Given the description of an element on the screen output the (x, y) to click on. 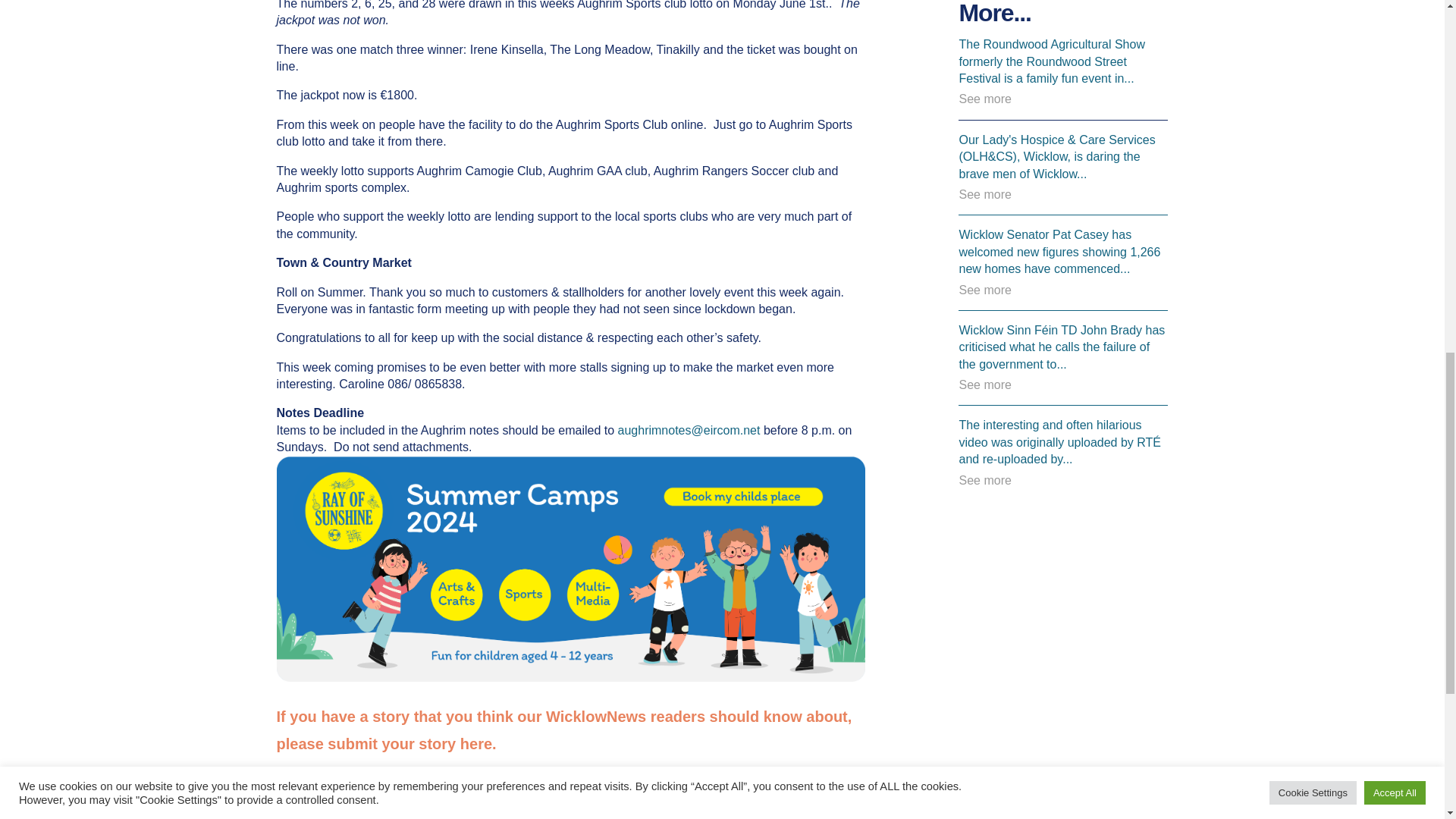
local notes (384, 792)
Aughrim (307, 792)
